Given the description of an element on the screen output the (x, y) to click on. 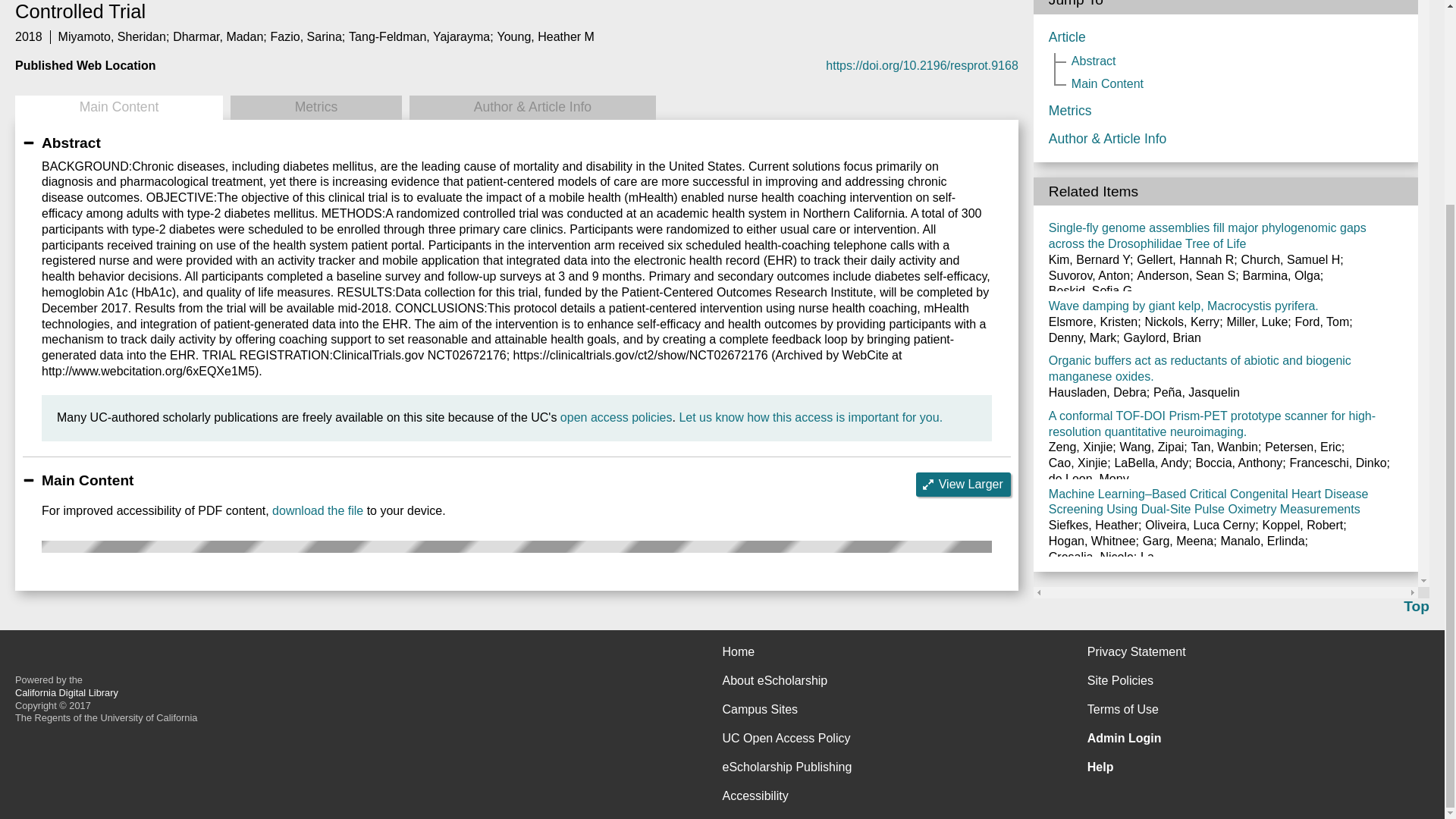
View Larger (962, 484)
open access policies (616, 417)
Main Content (118, 107)
Young, Heather M (545, 36)
download the file (317, 510)
Miyamoto, Sheridan (111, 36)
Fazio, Sarina (306, 36)
Tang-Feldman, Yajarayma (419, 36)
Dharmar, Madan (218, 36)
Let us know how this access is important for you. (810, 417)
Metrics (315, 107)
